Given the description of an element on the screen output the (x, y) to click on. 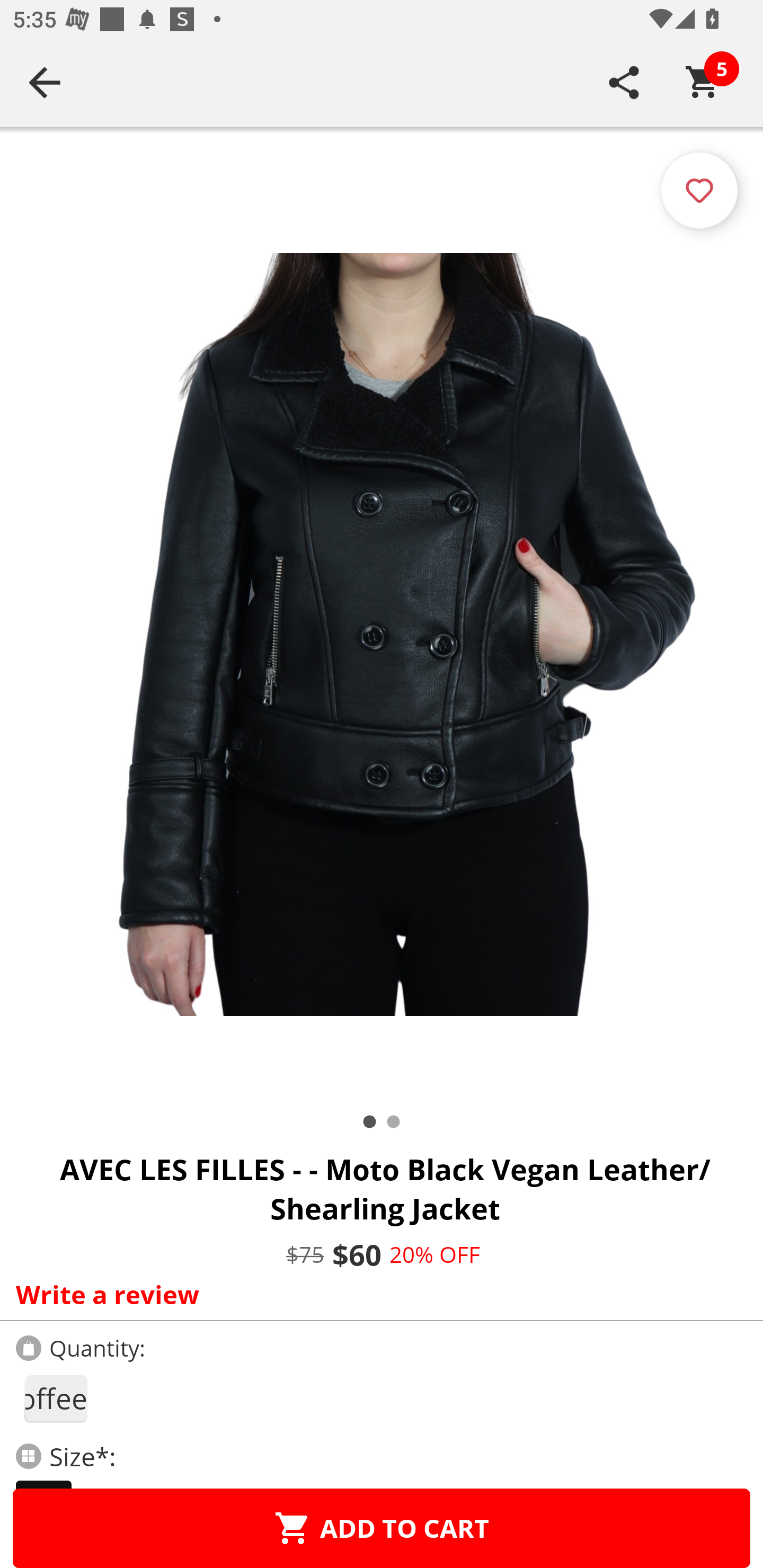
Navigate up (44, 82)
SHARE (623, 82)
Cart (703, 81)
Write a review (377, 1294)
1coffee (55, 1398)
ADD TO CART (381, 1528)
